Given the description of an element on the screen output the (x, y) to click on. 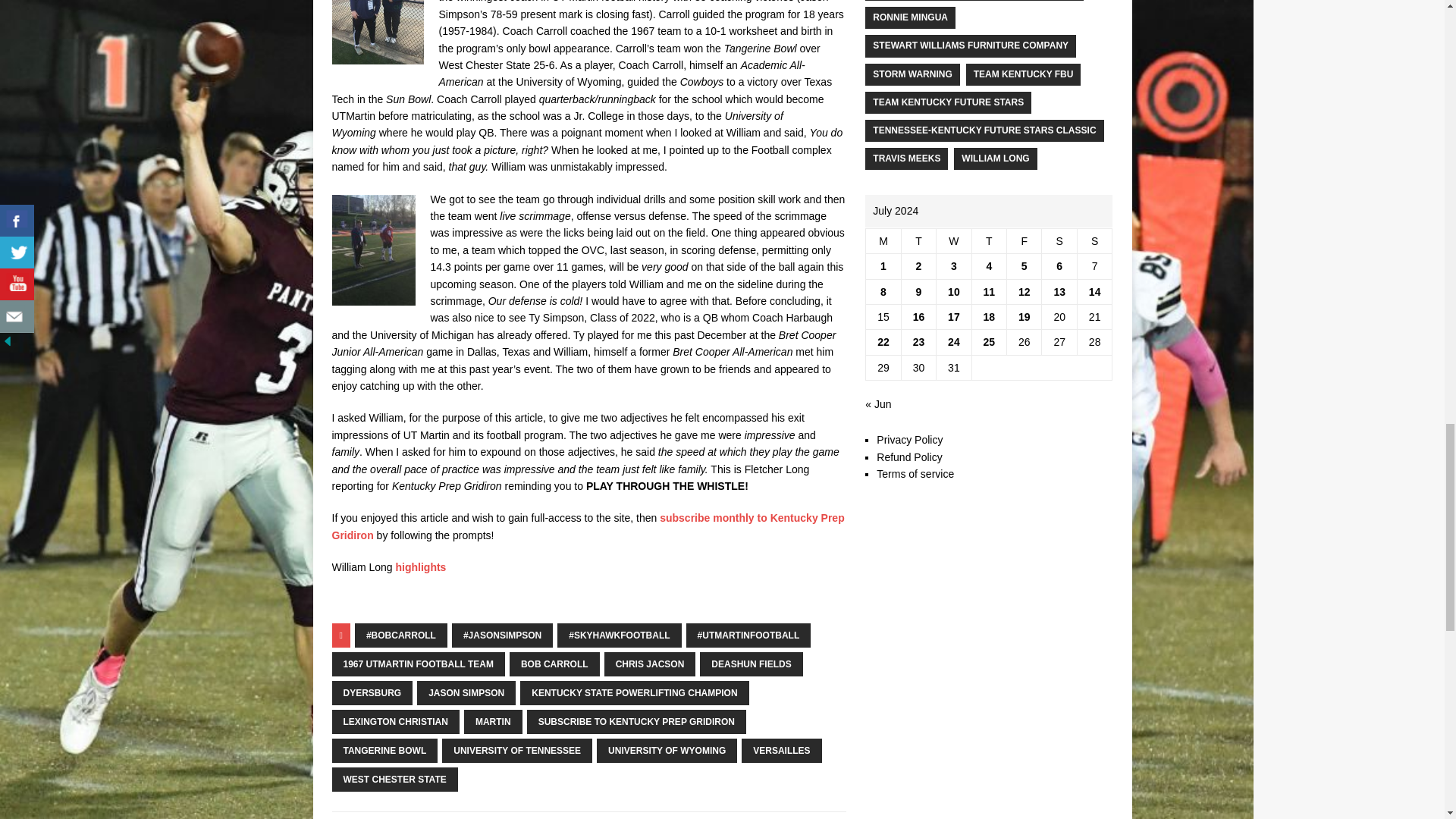
UNIVERSITY OF TENNESSEE (517, 750)
Monday (883, 240)
Sunday (1094, 240)
DYERSBURG (372, 692)
highlights (421, 567)
UNIVERSITY OF WYOMING (666, 750)
LEXINGTON CHRISTIAN (395, 721)
CHRIS JACSON (649, 663)
BOB CARROLL (554, 663)
MARTIN (493, 721)
JASON SIMPSON (465, 692)
Tuesday (918, 240)
DEASHUN FIELDS (751, 663)
Thursday (988, 240)
KENTUCKY STATE POWERLIFTING CHAMPION (633, 692)
